Given the description of an element on the screen output the (x, y) to click on. 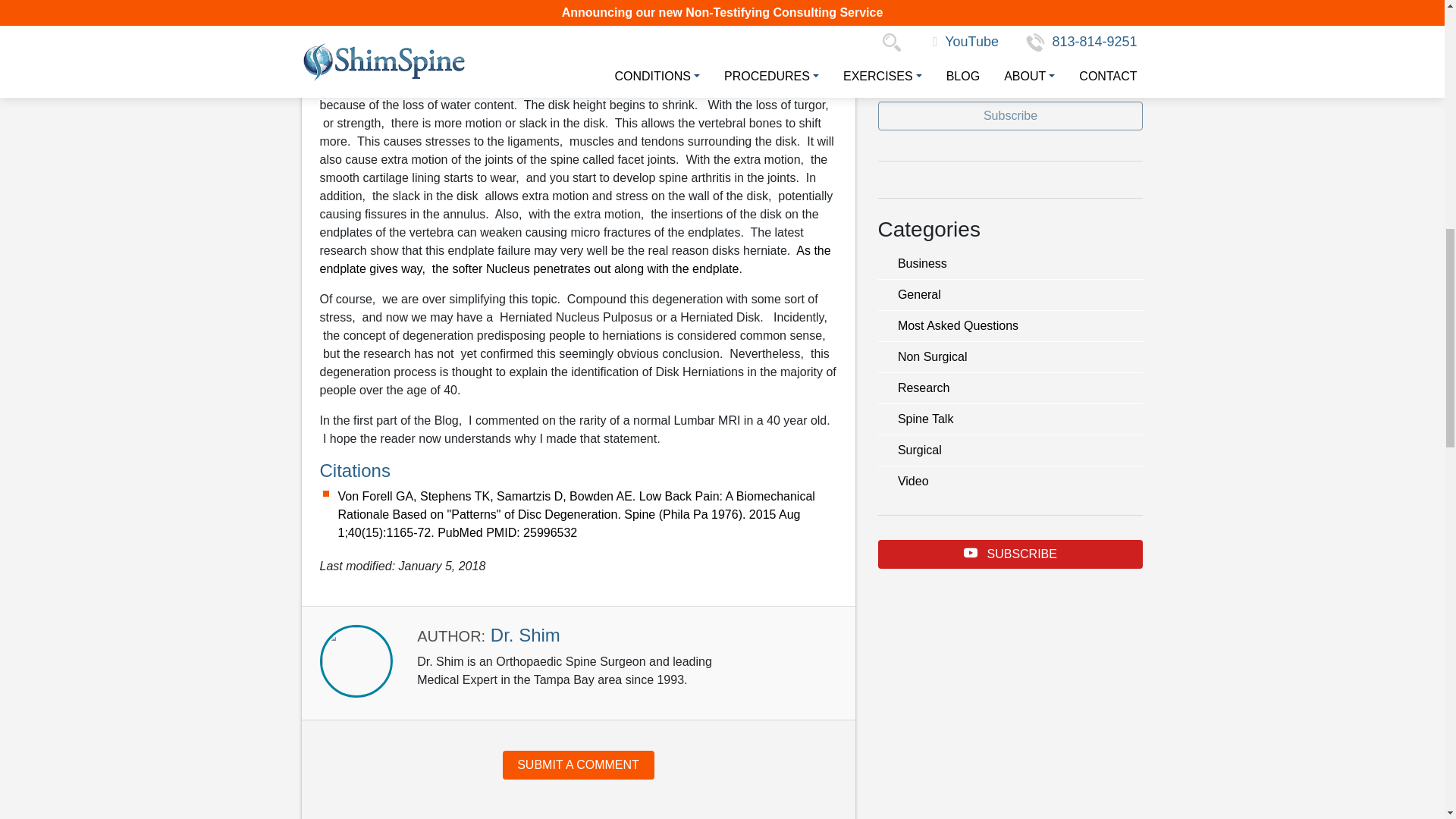
YOUTUBE PLAY ICON (969, 552)
Subscribe (1009, 115)
